Given the description of an element on the screen output the (x, y) to click on. 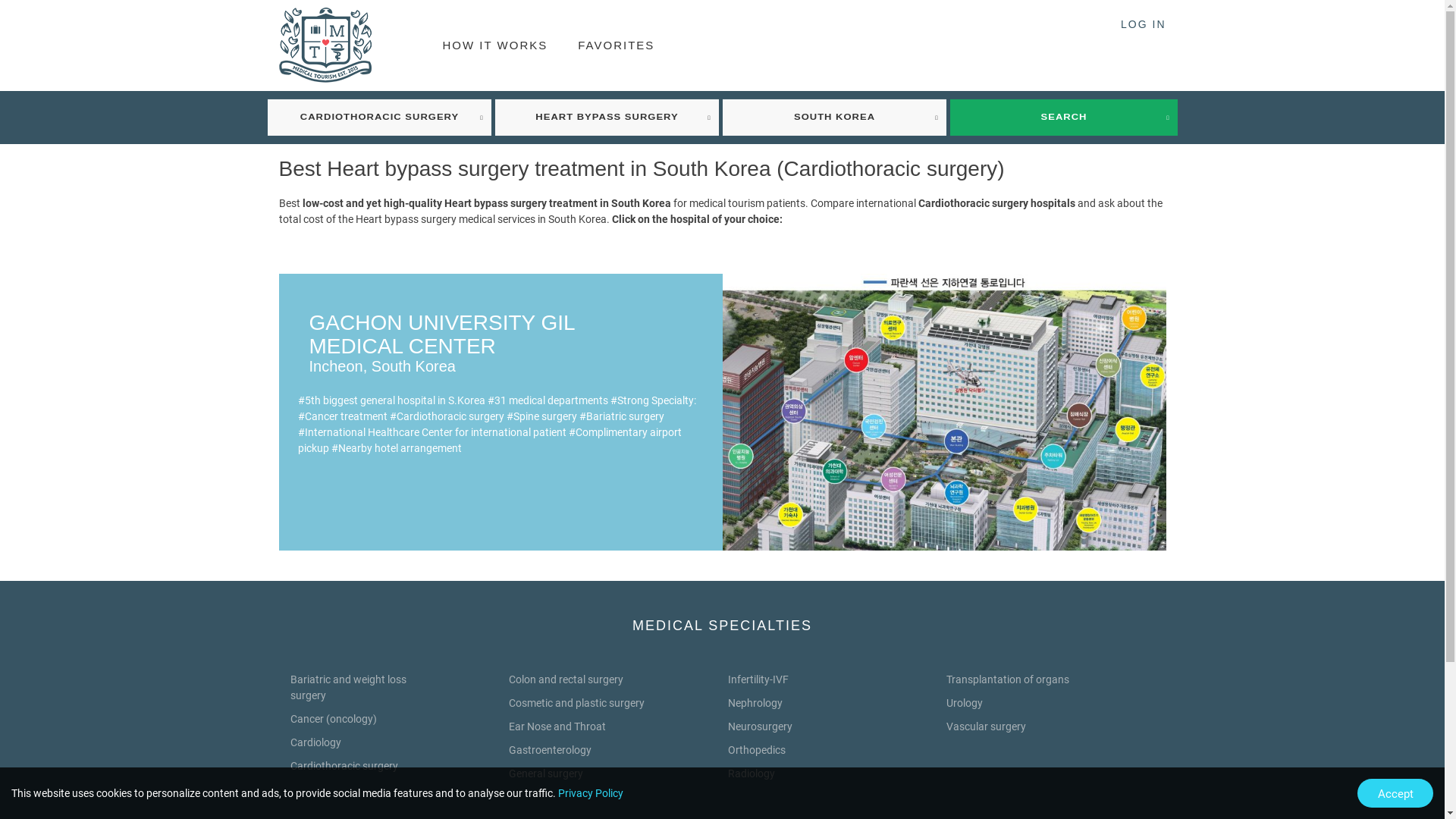
Transplantation of organs Element type: text (1007, 679)
Privacy Policy Element type: text (590, 793)
Cardiothoracic surgery Element type: text (343, 765)
Cancer (oncology) Element type: text (332, 718)
Radiology Element type: text (751, 773)
Ear Nose and Throat Element type: text (556, 726)
Infertility-IVF Element type: text (758, 679)
Neurosurgery Element type: text (760, 726)
LOG IN Element type: text (1142, 24)
Orthopedics Element type: text (756, 749)
HOW IT WORKS Element type: text (495, 44)
Bariatric and weight loss surgery Element type: text (347, 687)
Gastroenterology Element type: text (549, 749)
FAVORITES Element type: text (615, 44)
Cardiology Element type: text (314, 742)
Vascular surgery Element type: text (986, 726)
Cosmetic and plastic surgery Element type: text (576, 702)
Urology Element type: text (964, 702)
Nephrology Element type: text (755, 702)
Colon and rectal surgery Element type: text (565, 679)
General surgery Element type: text (545, 773)
